Given the description of an element on the screen output the (x, y) to click on. 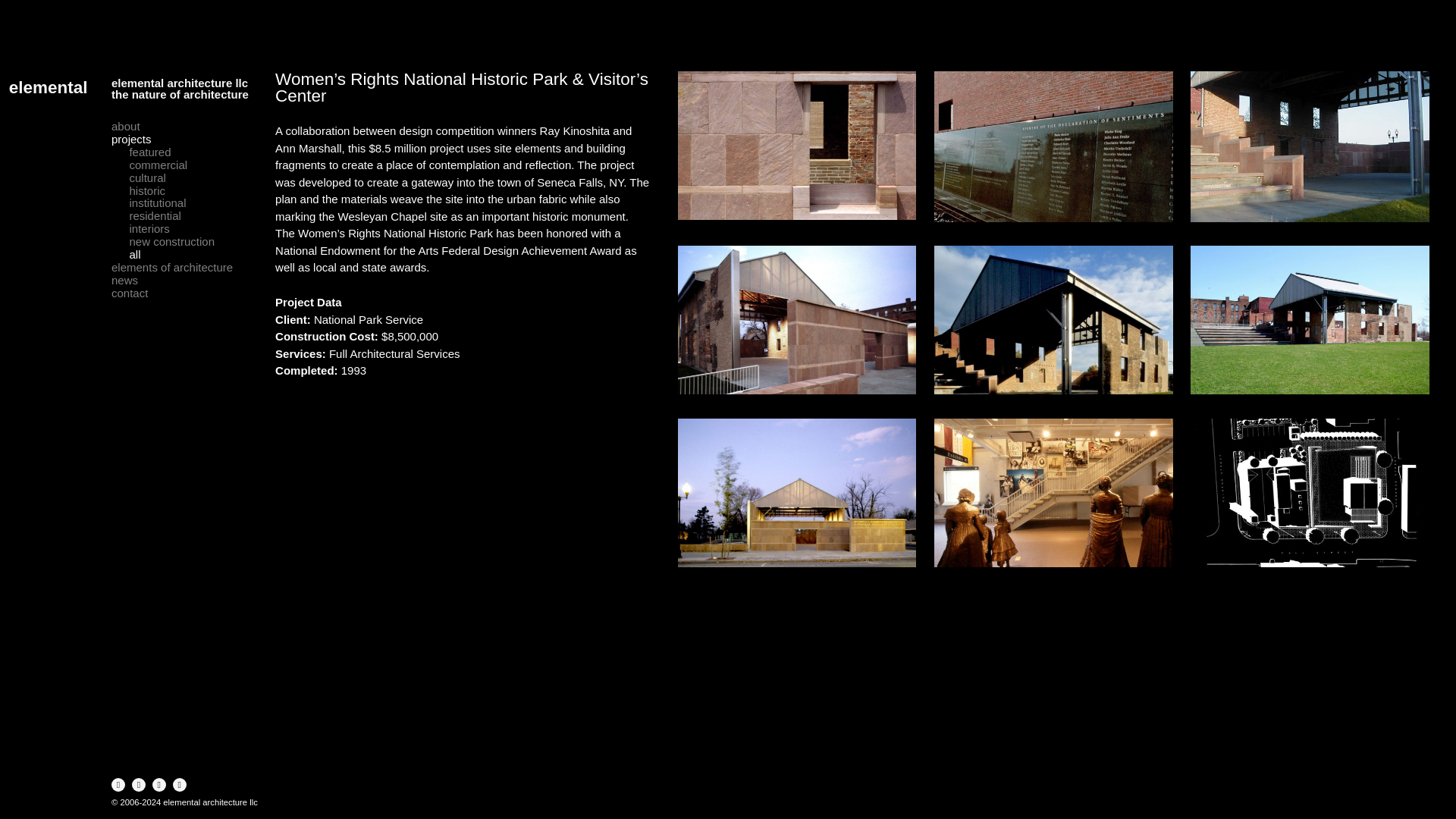
Facebook (118, 784)
Twitter (158, 784)
Instagram (138, 784)
news (125, 280)
residential (154, 215)
institutional (157, 203)
about (125, 126)
interiors (148, 228)
historic (147, 191)
commercial (158, 164)
